Given the description of an element on the screen output the (x, y) to click on. 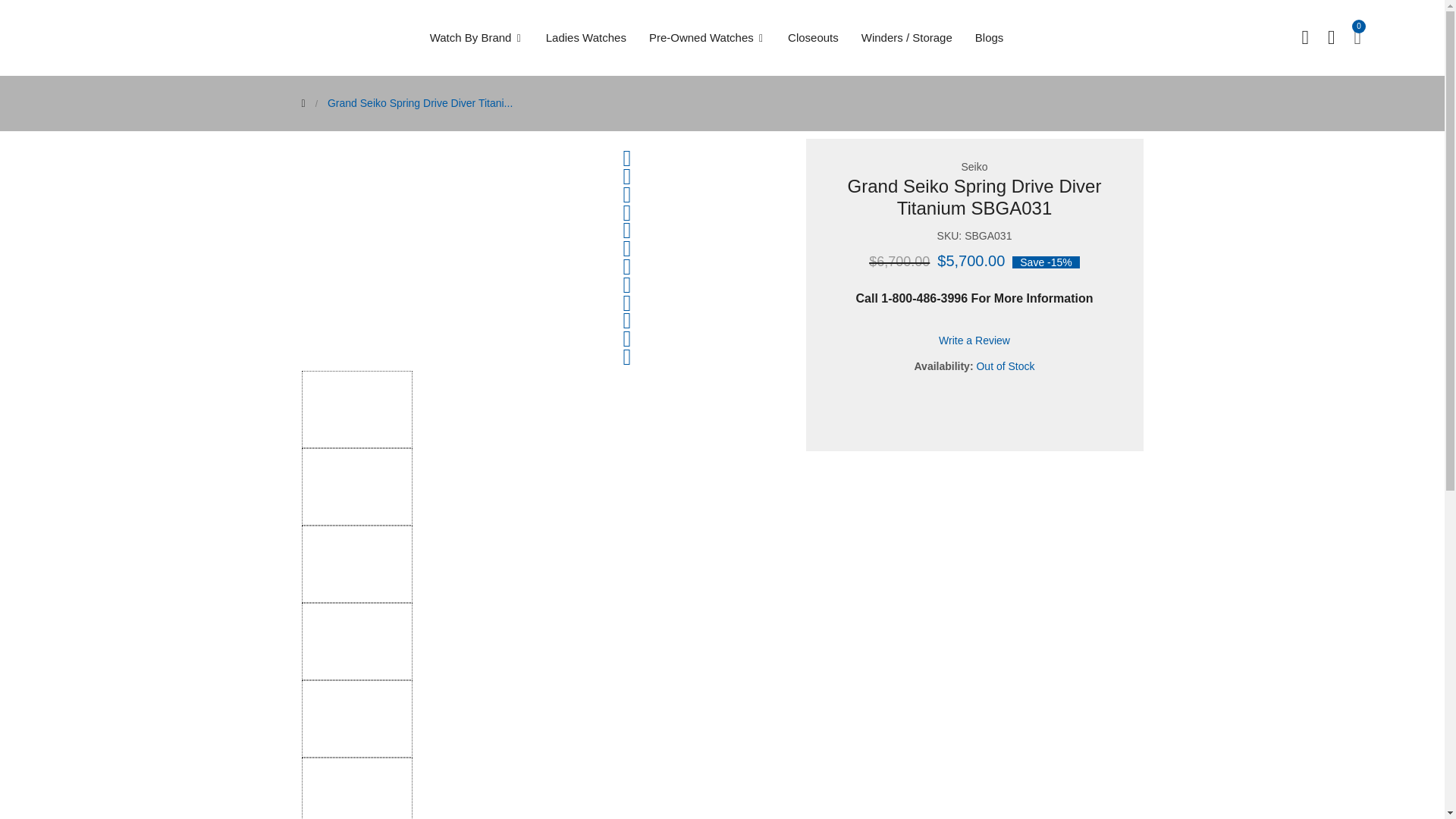
Watch By Brand (481, 38)
